Given the description of an element on the screen output the (x, y) to click on. 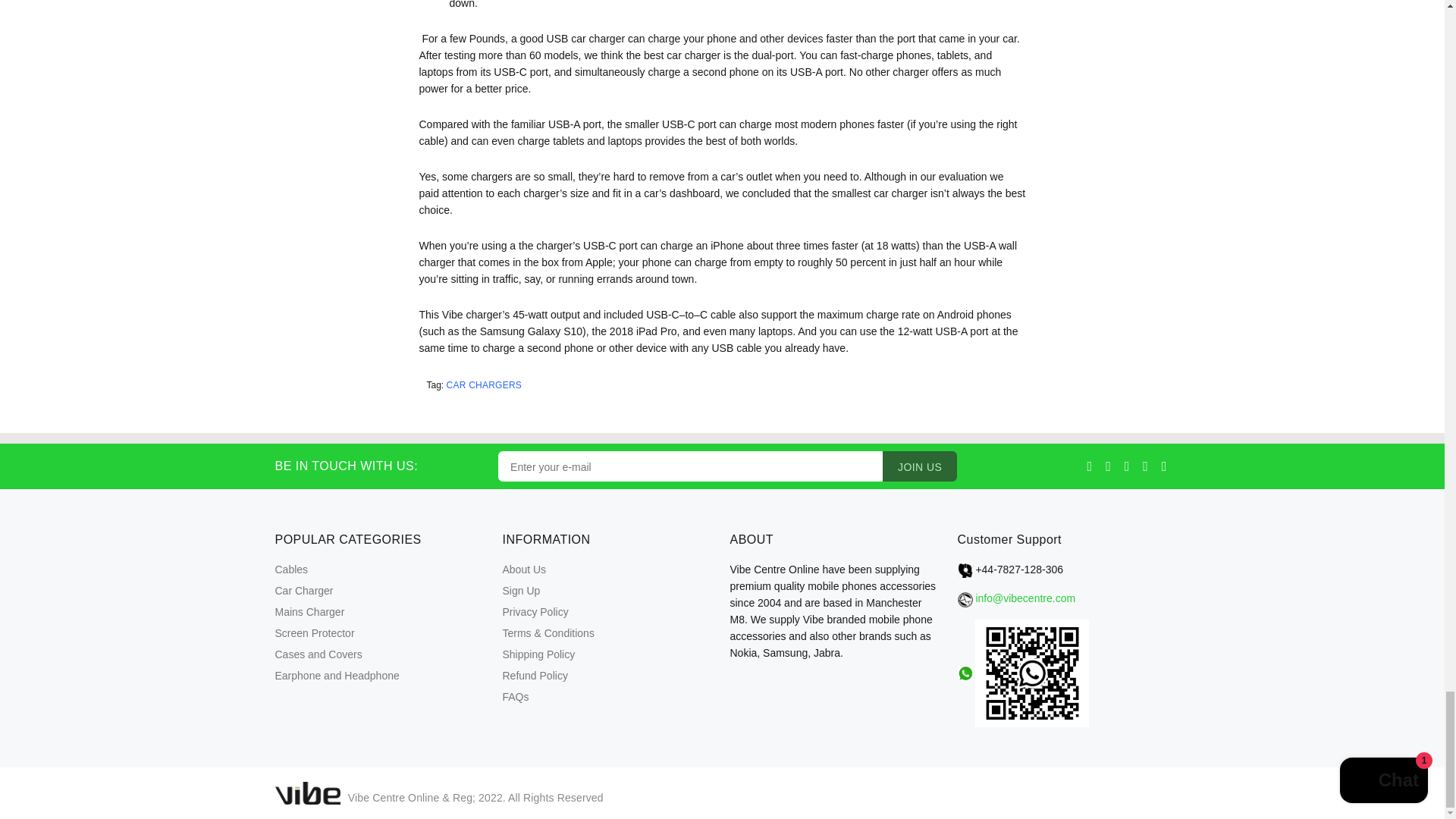
Show articles tagged Car Chargers (484, 385)
